Given the description of an element on the screen output the (x, y) to click on. 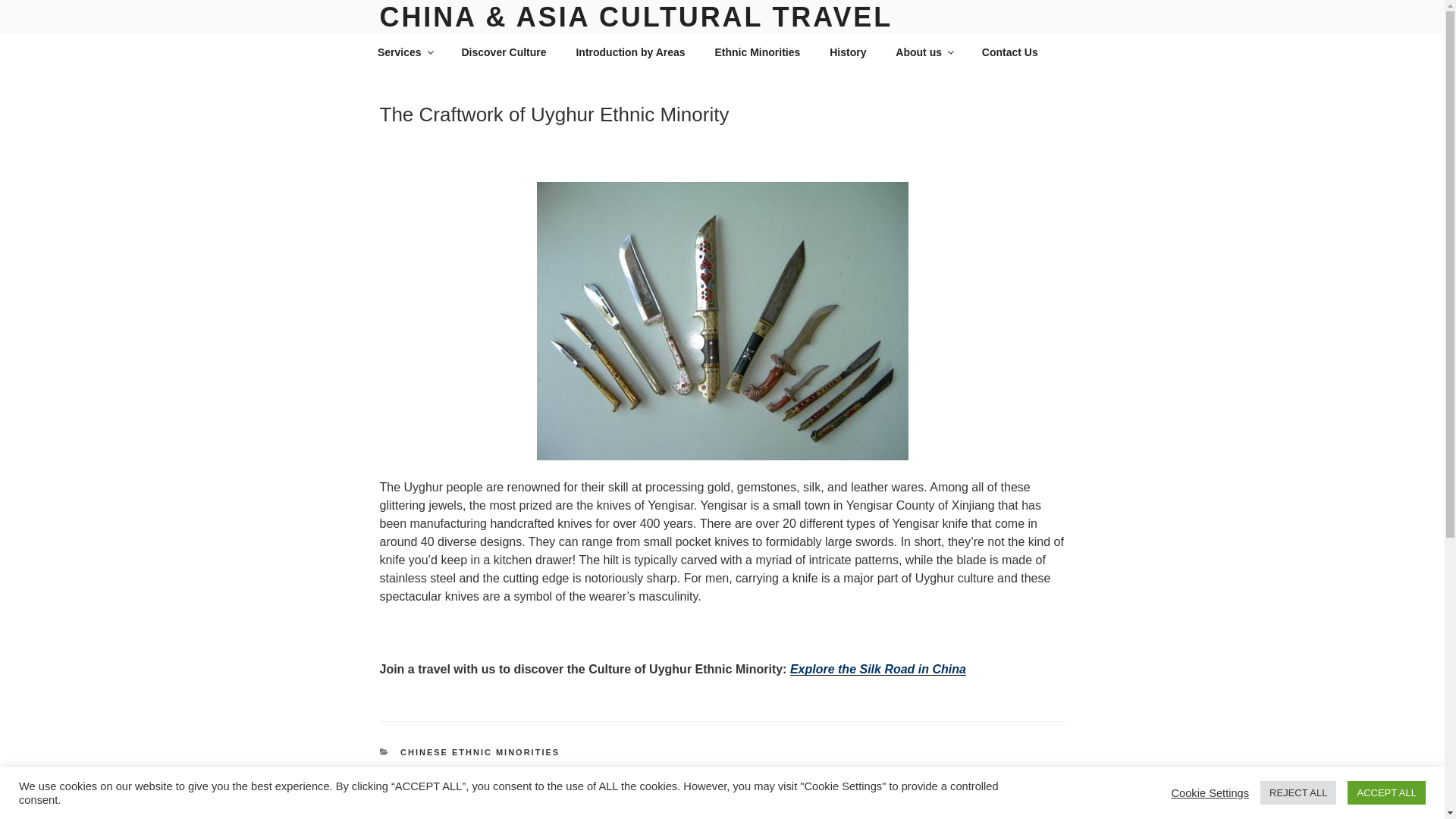
Services (404, 52)
Ethnic Minorities (757, 52)
ACCEPT ALL (1386, 792)
About us (924, 52)
REJECT ALL (1298, 792)
CHINESE ETHNIC MINORITIES (479, 751)
Discover Culture (503, 52)
Contact Us (1009, 52)
Explore the Silk Road in China (878, 668)
